Given the description of an element on the screen output the (x, y) to click on. 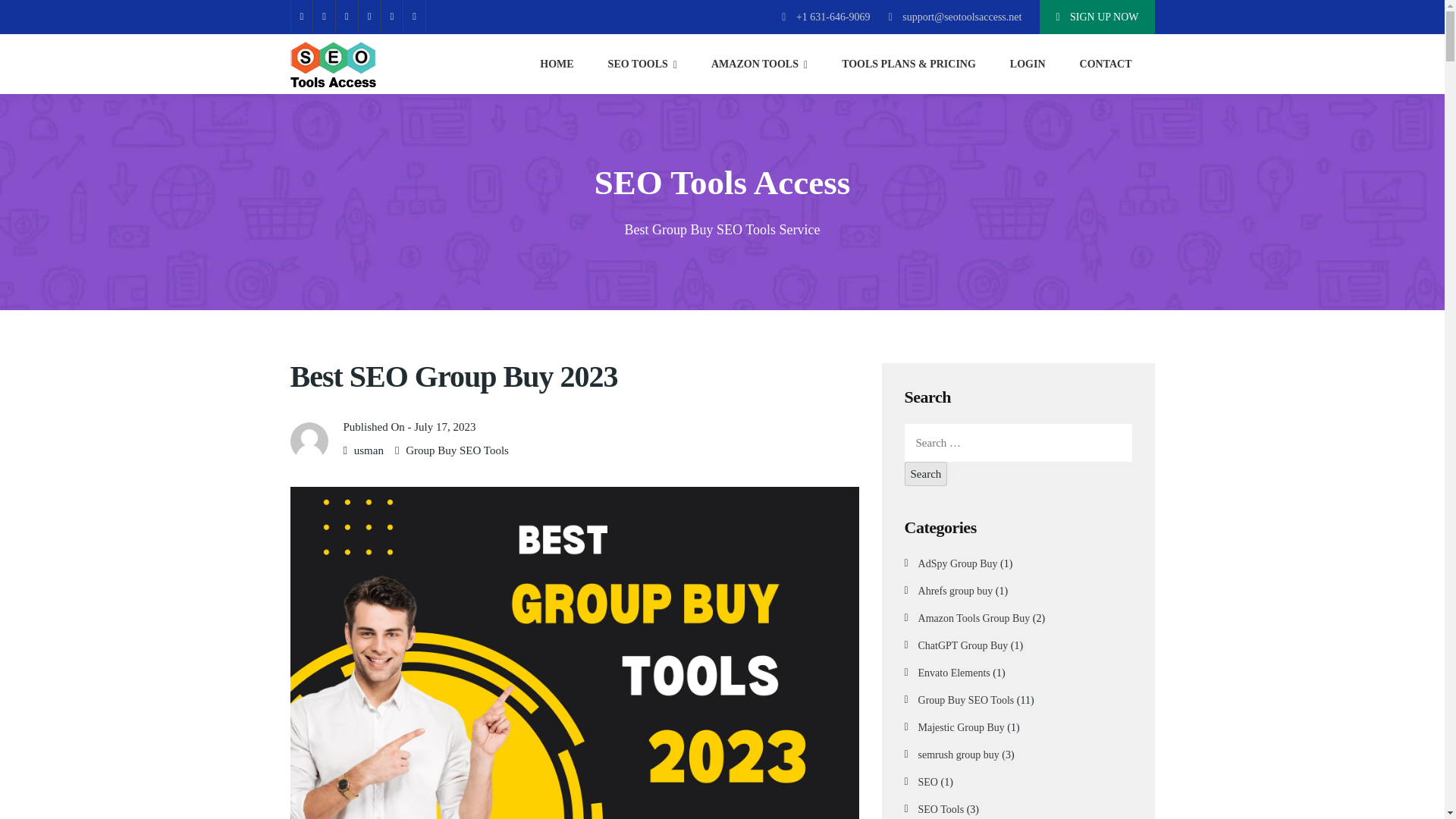
SEO TOOLS (642, 64)
Search (925, 473)
SIGN UP NOW (1096, 17)
AMAZON TOOLS (759, 64)
Search (925, 473)
